Given the description of an element on the screen output the (x, y) to click on. 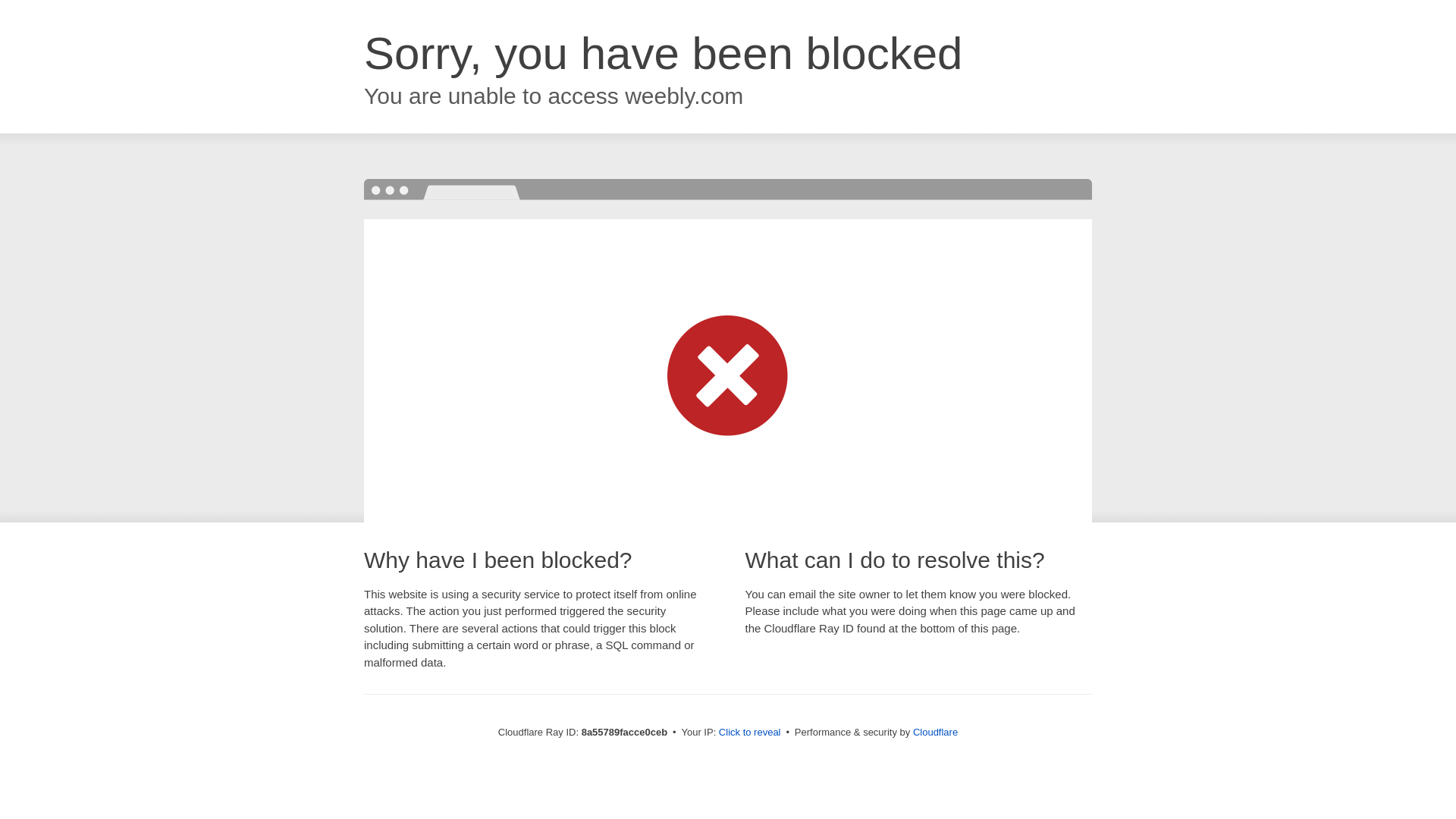
Click to reveal (749, 732)
Cloudflare (935, 731)
